Given the description of an element on the screen output the (x, y) to click on. 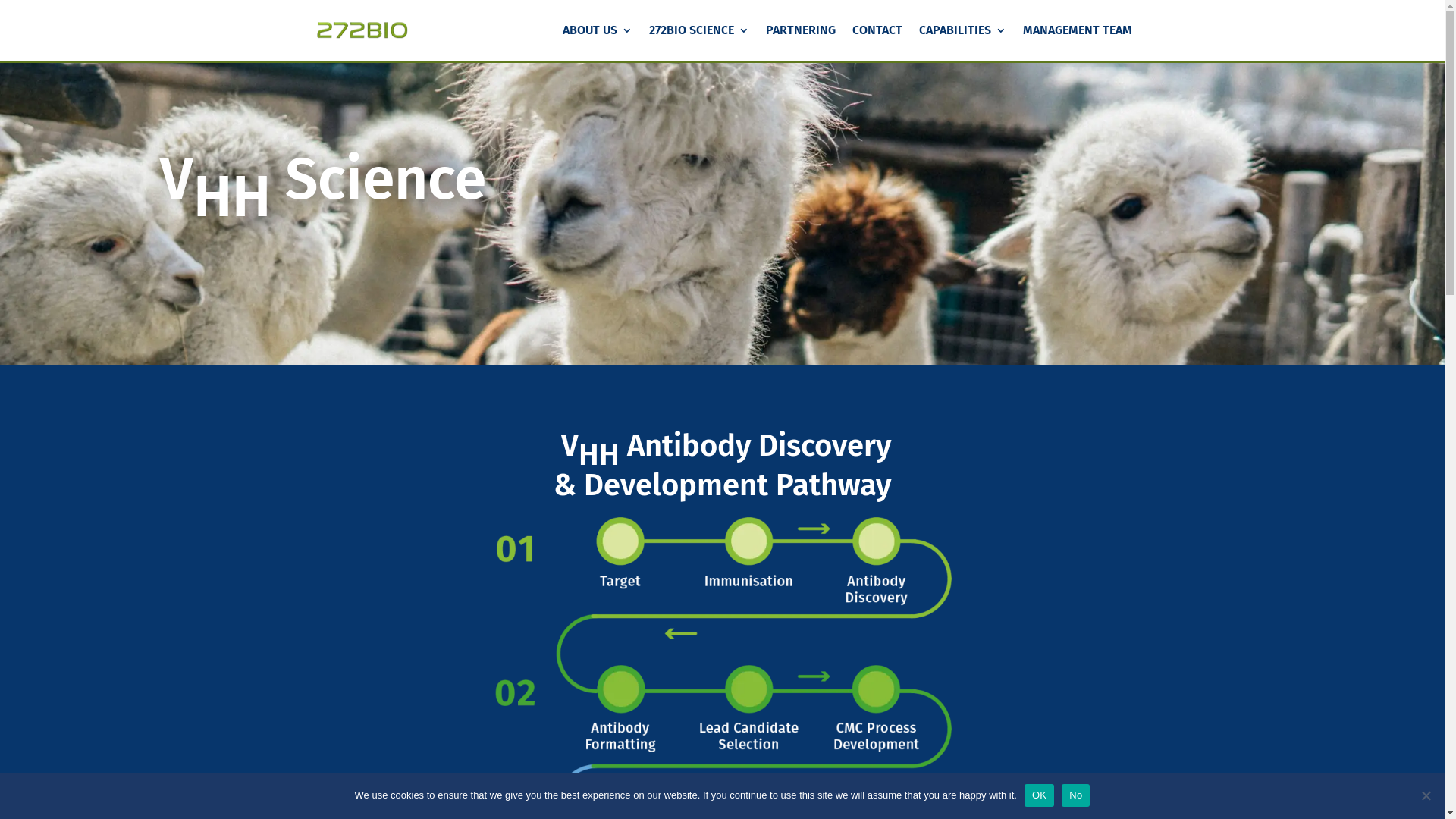
CAPABILITIES Element type: text (962, 42)
MANAGEMENT TEAM Element type: text (1076, 42)
272BIO SCIENCE Element type: text (699, 42)
PARTNERING Element type: text (800, 42)
No Element type: text (1075, 795)
No Element type: hover (1425, 795)
CONTACT Element type: text (877, 42)
OK Element type: text (1039, 795)
ABOUT US Element type: text (597, 42)
